Given the description of an element on the screen output the (x, y) to click on. 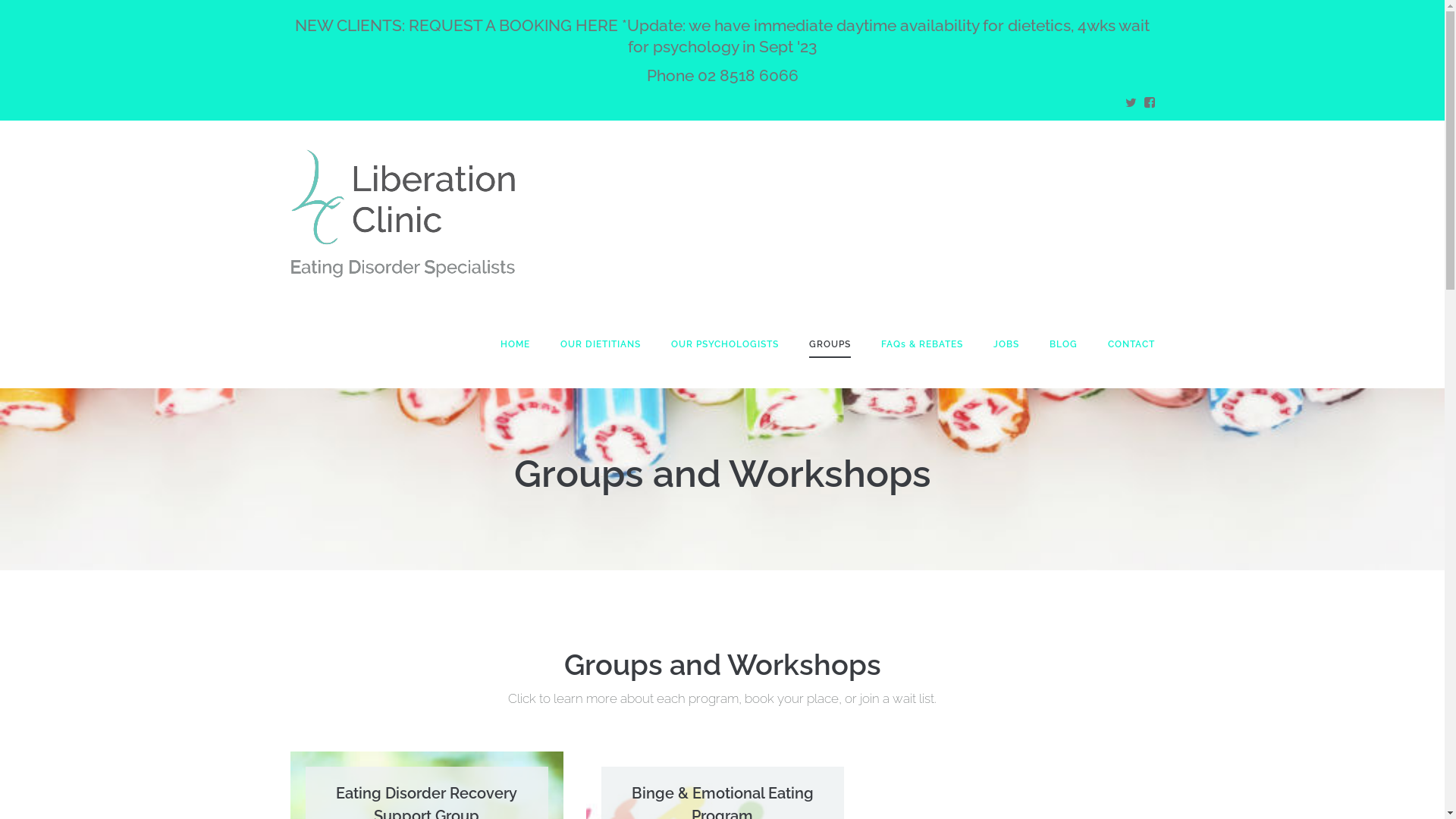
JOBS Element type: text (1006, 343)
GROUPS Element type: text (829, 343)
OUR PSYCHOLOGISTS Element type: text (724, 343)
HOME Element type: text (515, 343)
BLOG Element type: text (1063, 343)
CONTACT Element type: text (1130, 343)
OUR DIETITIANS Element type: text (599, 343)
Phone 02 8518 6066 Element type: text (721, 74)
FAQs & REBATES Element type: text (922, 343)
